Given the description of an element on the screen output the (x, y) to click on. 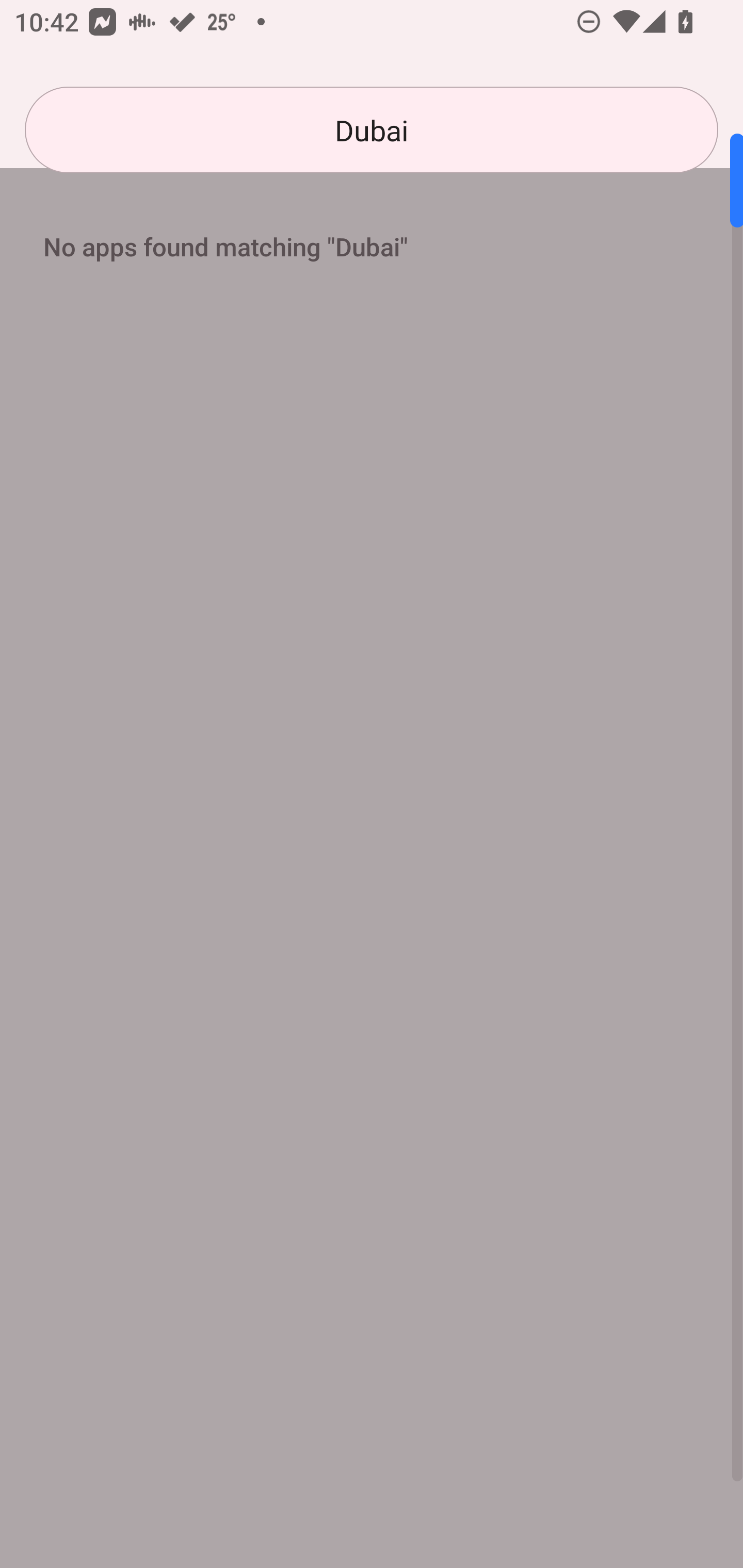
Dubai (371, 130)
